Given the description of an element on the screen output the (x, y) to click on. 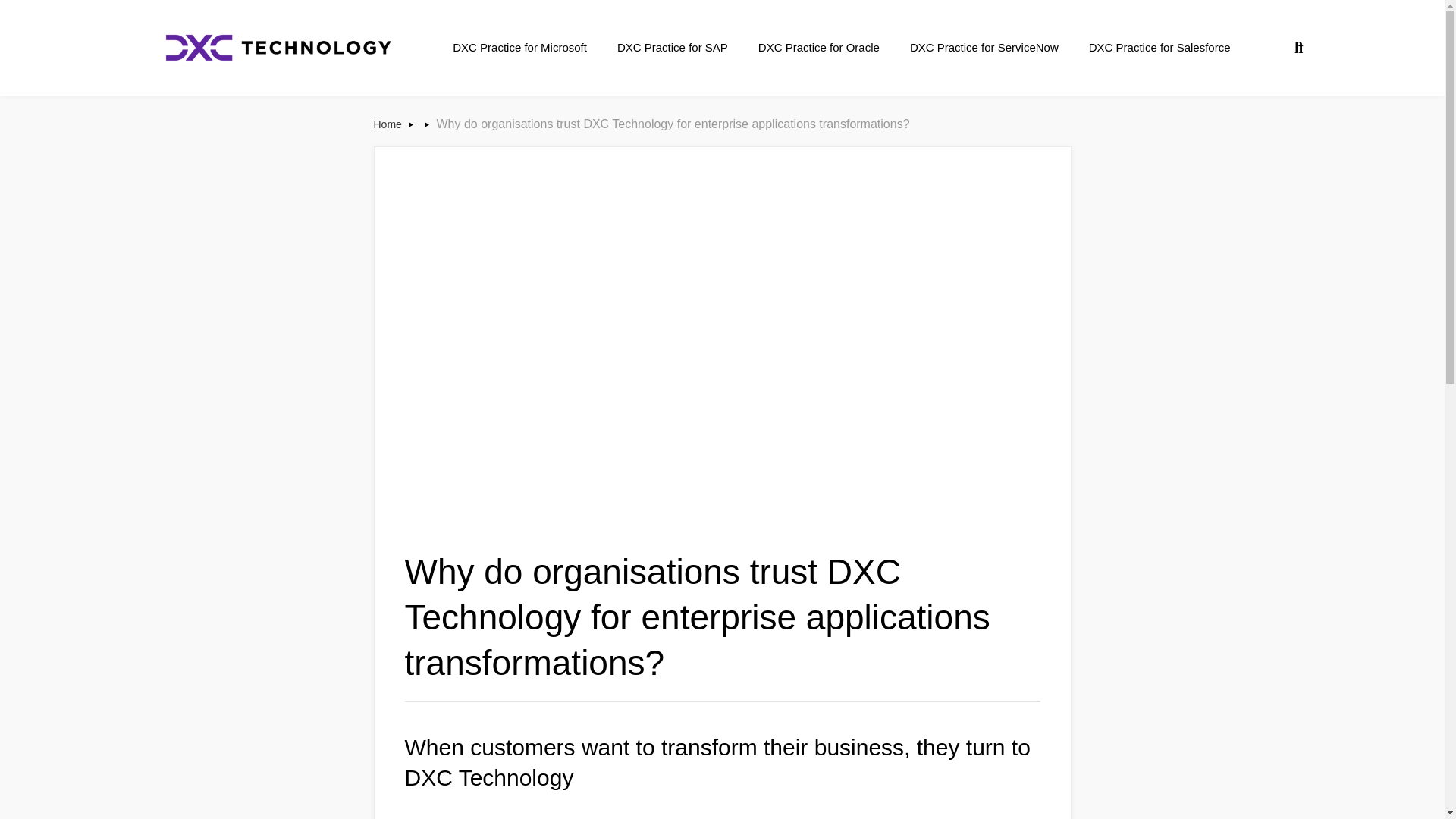
DXC Practice for SAP (672, 47)
DXC Practice for Salesforce (1160, 47)
Home (388, 123)
DXC Practice for Oracle (818, 47)
DXC Practice for ServiceNow (983, 47)
DXC Technology (278, 47)
DXC Practice for Microsoft (519, 47)
